Given the description of an element on the screen output the (x, y) to click on. 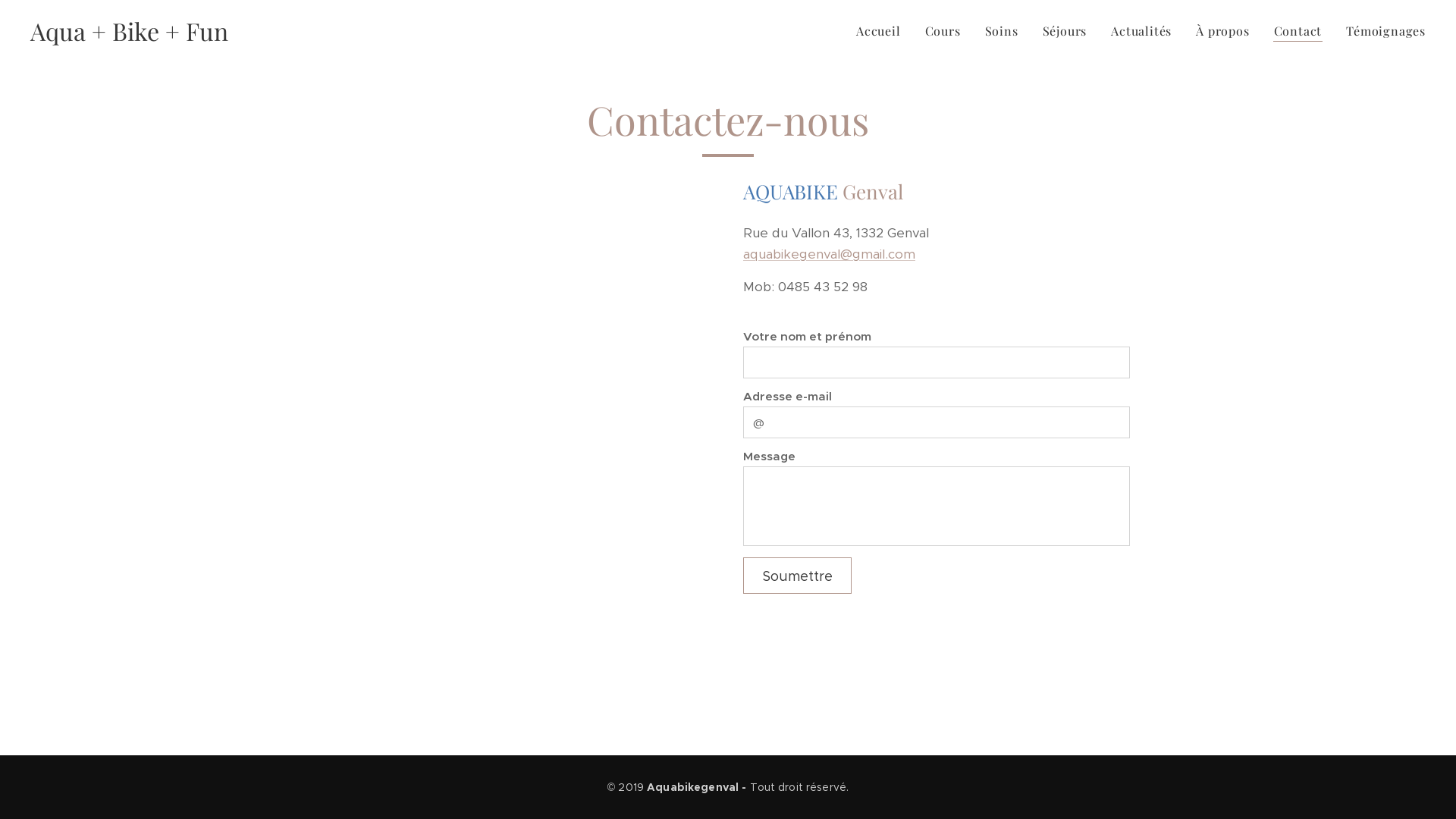
Accueil Element type: text (882, 31)
aquabikegenval@gmail.com Element type: text (829, 253)
Cours Element type: text (942, 31)
Soumettre Element type: text (797, 575)
Aqua + Bike + Fun Element type: text (128, 30)
Soins Element type: text (1001, 31)
Contact Element type: text (1297, 31)
